Given the description of an element on the screen output the (x, y) to click on. 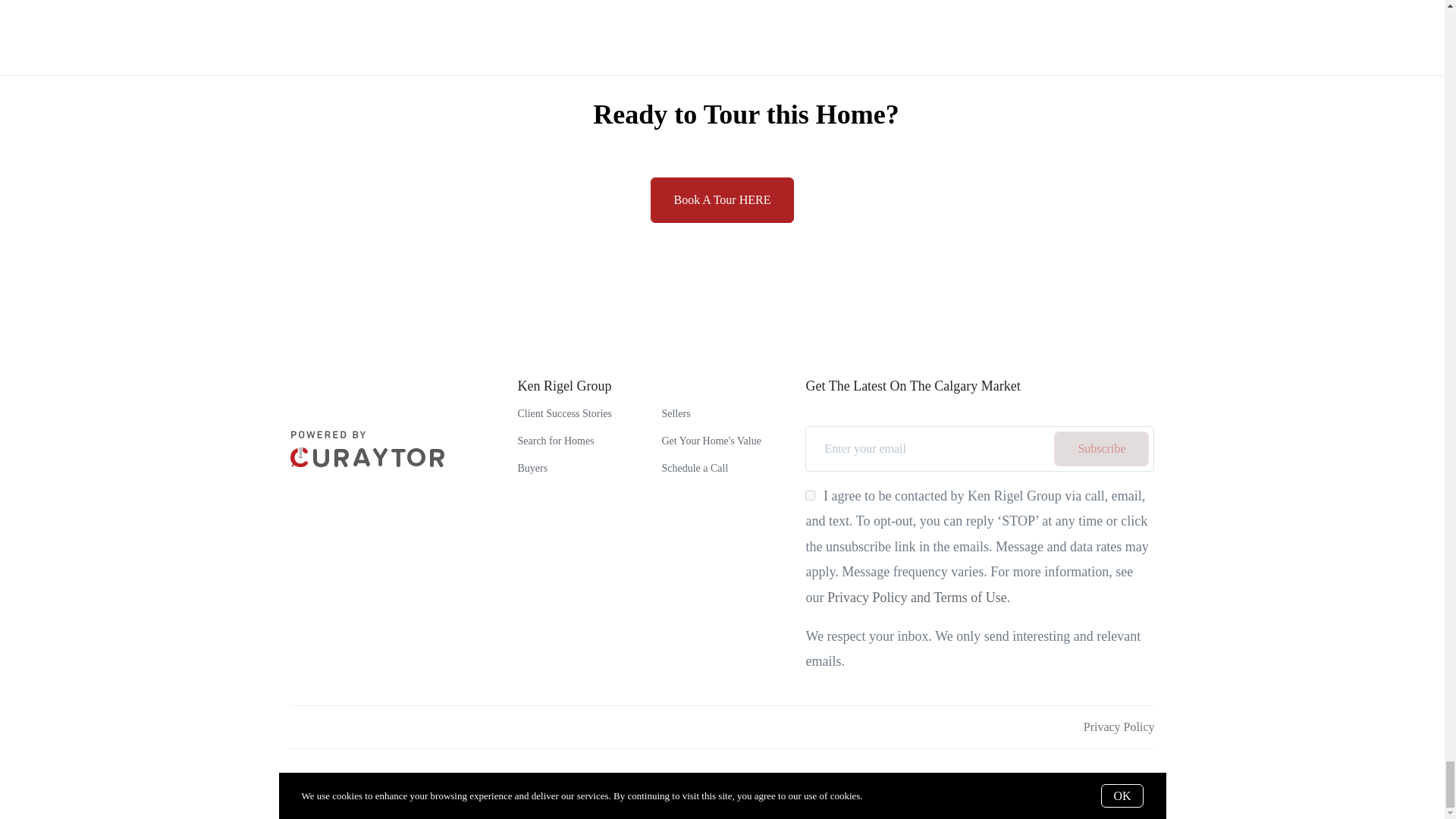
Book A Tour HERE (722, 199)
curaytor-horizontal (366, 448)
on (810, 495)
